Given the description of an element on the screen output the (x, y) to click on. 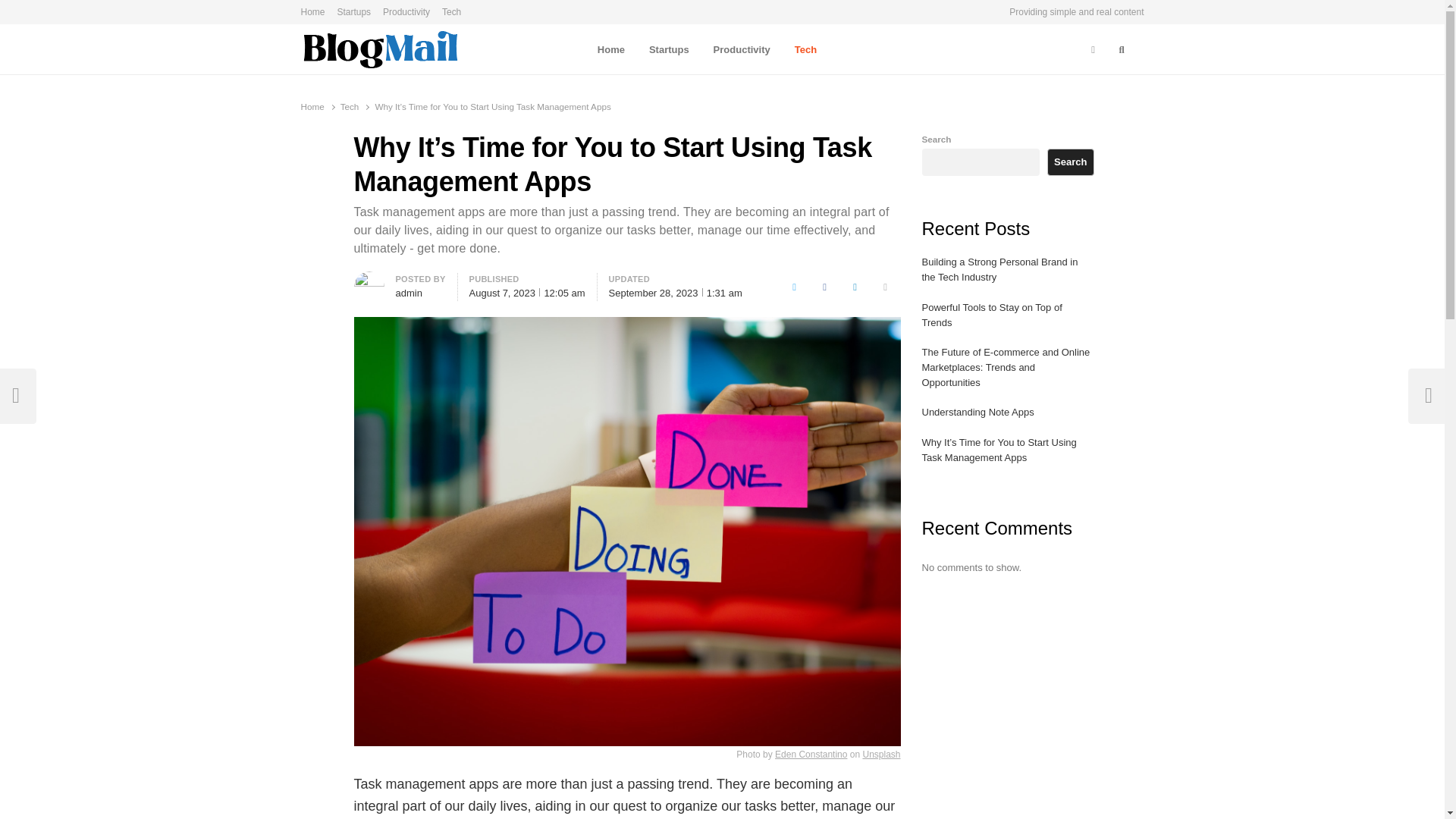
Share this post (885, 286)
admin (409, 292)
Twitter (794, 286)
Unsplash (880, 754)
Share on LinkedIn (855, 286)
Home (311, 106)
BlogMail (330, 78)
Home (611, 49)
LinkedIn (855, 286)
Search (1121, 49)
Share on facebook (824, 286)
Home (314, 12)
Startups (669, 49)
Startups (353, 12)
Search (25, 13)
